Given the description of an element on the screen output the (x, y) to click on. 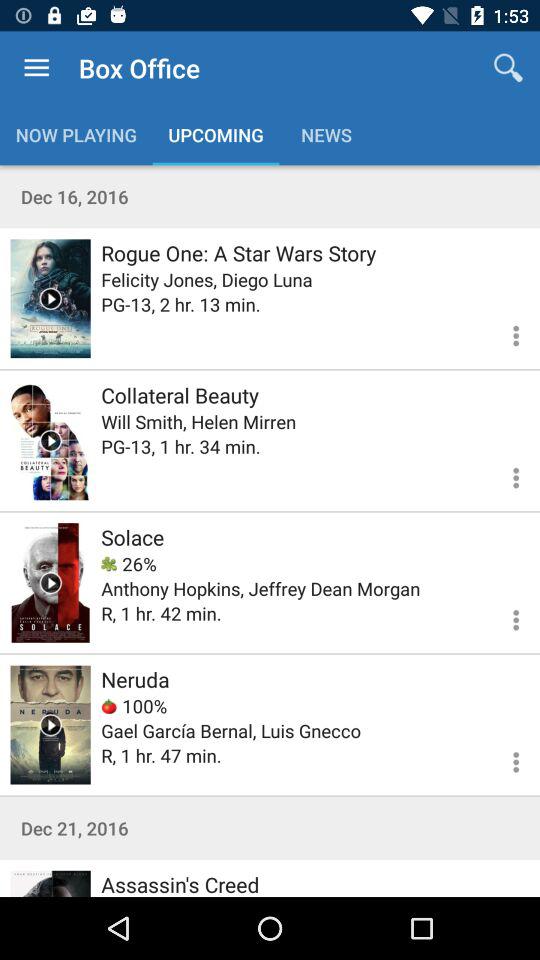
more oprions (503, 759)
